Given the description of an element on the screen output the (x, y) to click on. 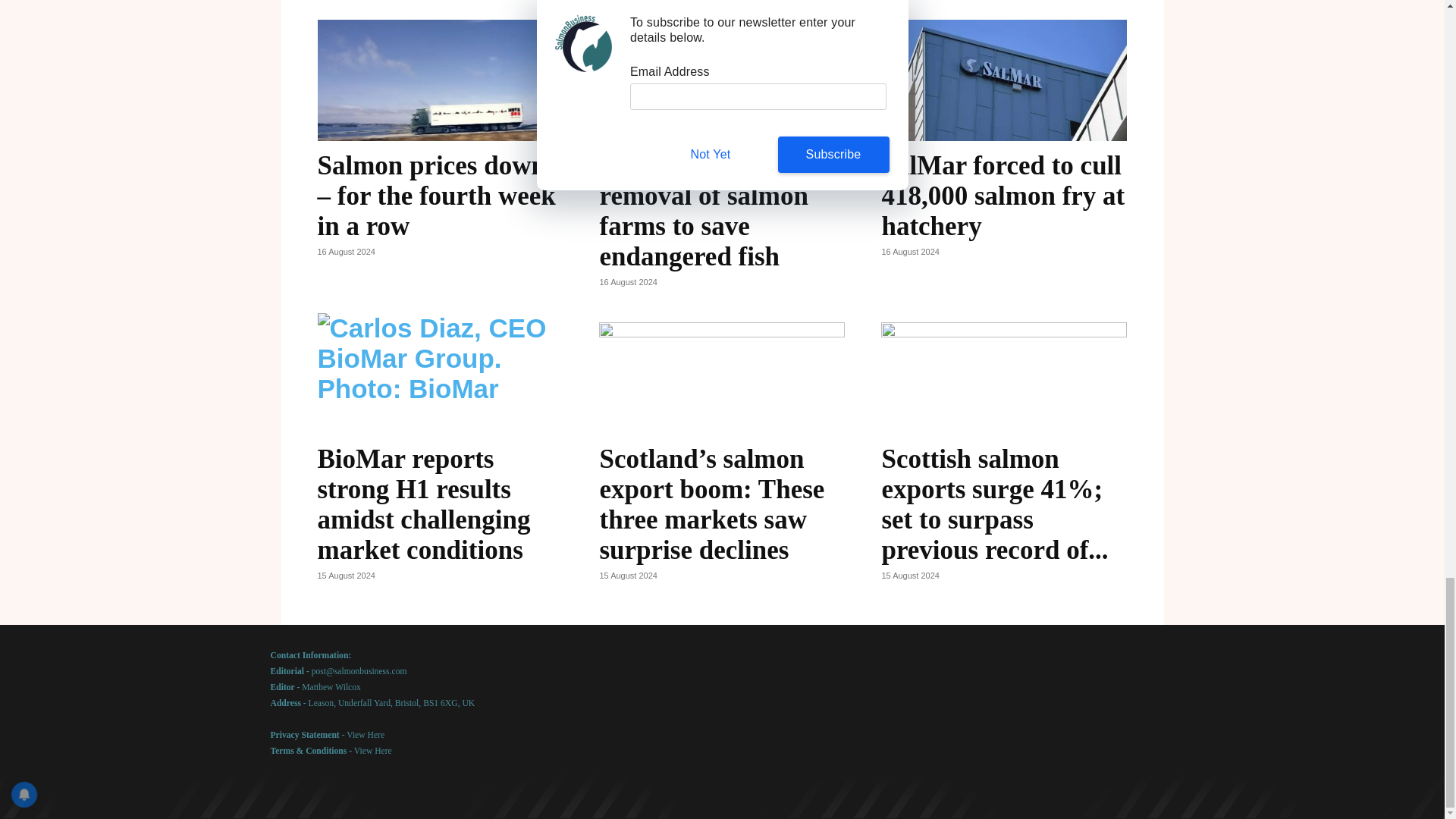
SalMar forced to cull 418,000 salmon fry at hatchery (1002, 195)
